Given the description of an element on the screen output the (x, y) to click on. 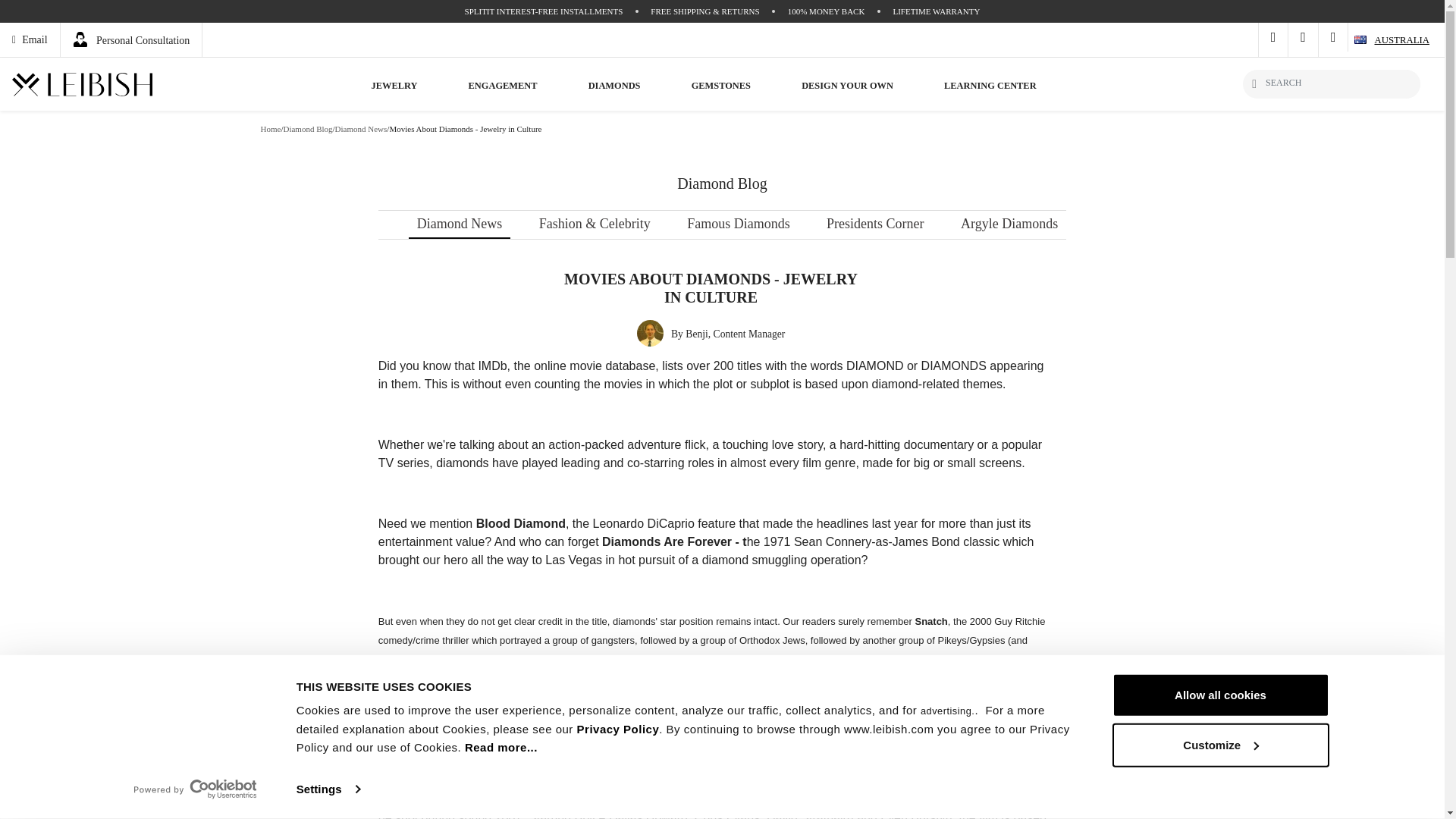
Privacy Policy (617, 728)
Read more... (500, 747)
Settings (328, 789)
